Given the description of an element on the screen output the (x, y) to click on. 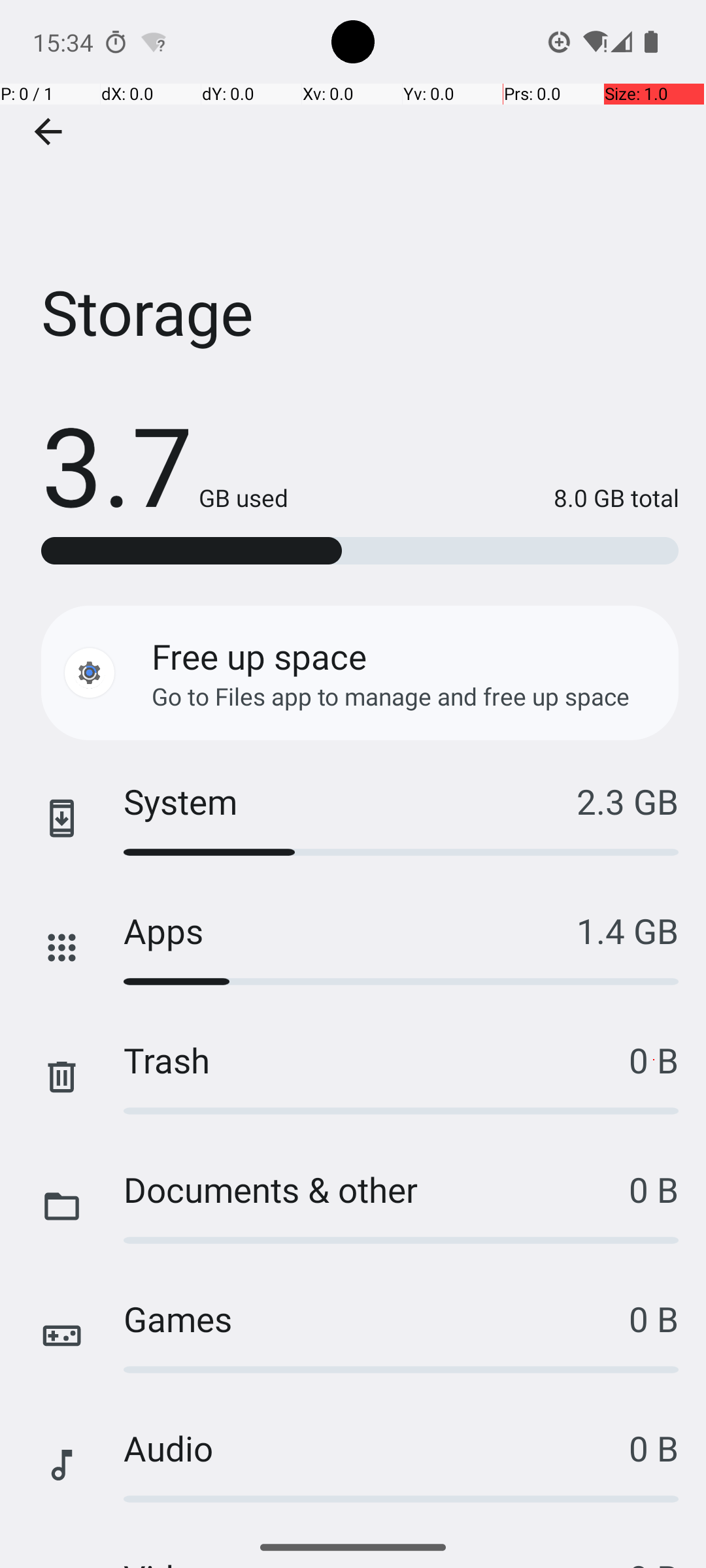
3.7 GB used Element type: android.widget.TextView (164, 463)
